Given the description of an element on the screen output the (x, y) to click on. 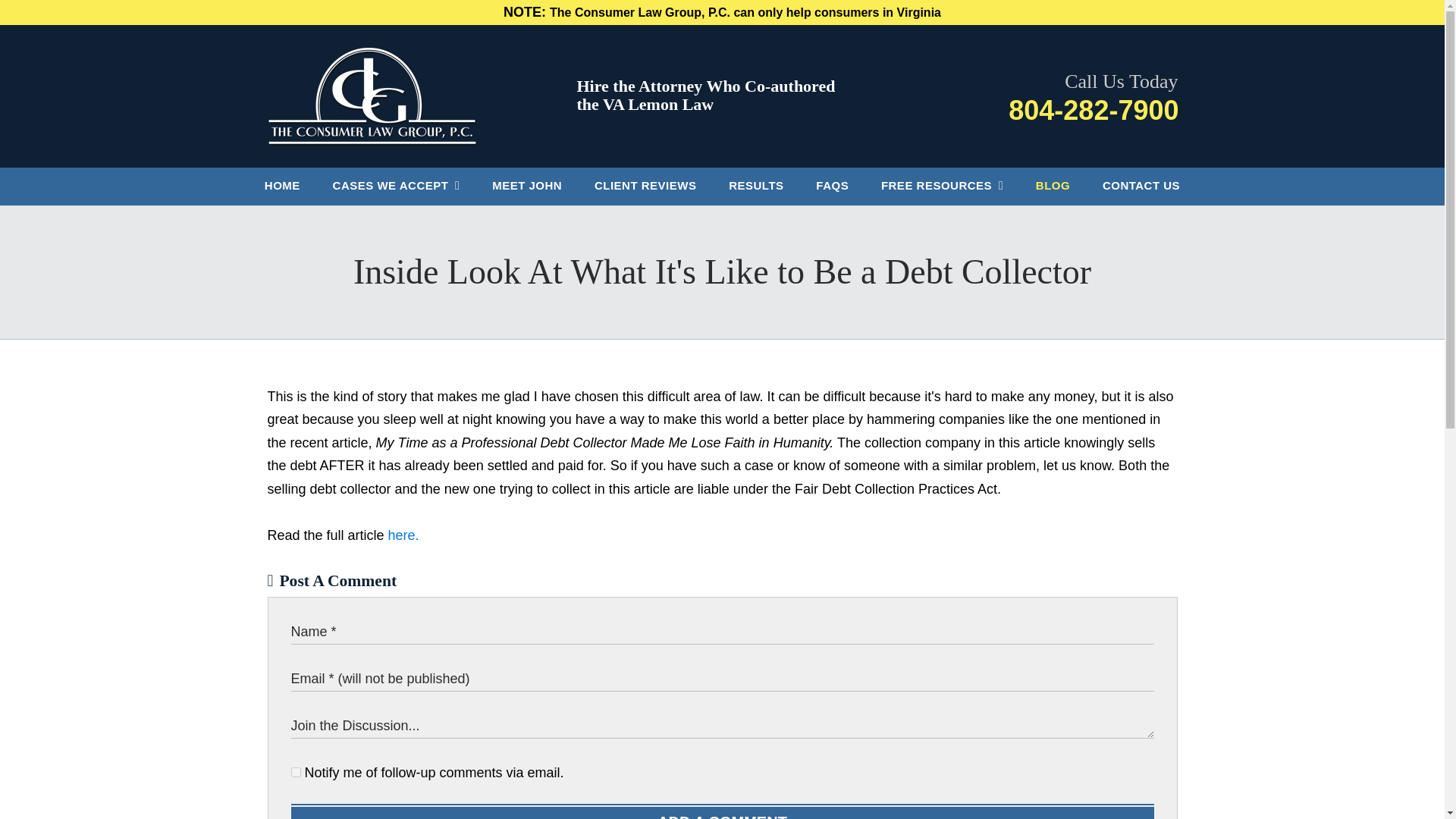
BLOG (1052, 186)
FAQS (831, 186)
MEET JOHN (527, 186)
CLIENT REVIEWS (645, 186)
here. (403, 534)
ADD A COMMENT (722, 812)
1 (296, 772)
HOME (282, 186)
FREE RESOURCES (942, 186)
RESULTS (756, 186)
